Given the description of an element on the screen output the (x, y) to click on. 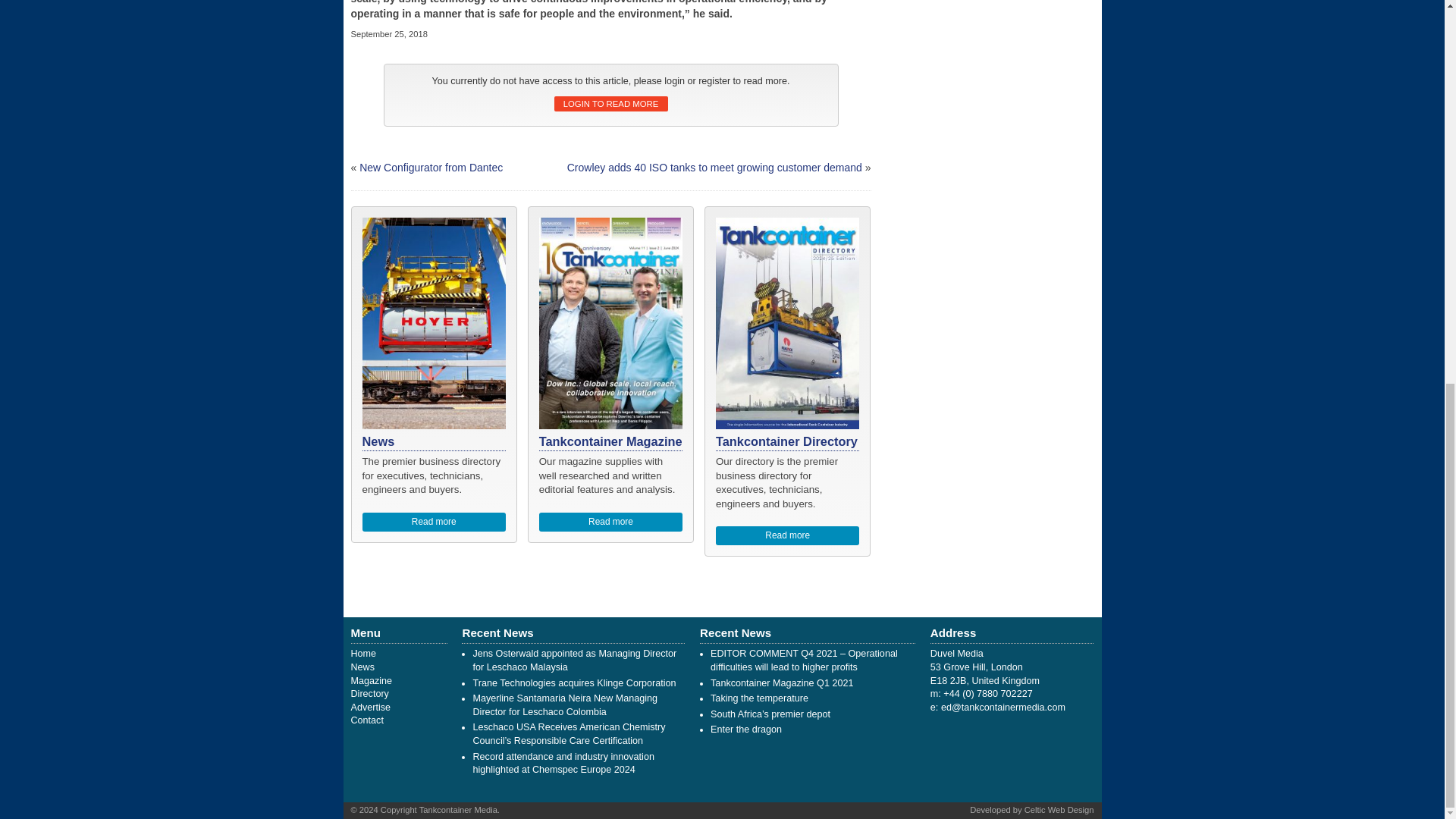
Tank Container Directory (369, 693)
Contact (366, 719)
WordPress (1059, 809)
Read more (610, 521)
Home (362, 653)
Read more (434, 521)
Magazine (370, 680)
Read more (788, 535)
Advertise (370, 706)
Tank Container Media (362, 653)
